Given the description of an element on the screen output the (x, y) to click on. 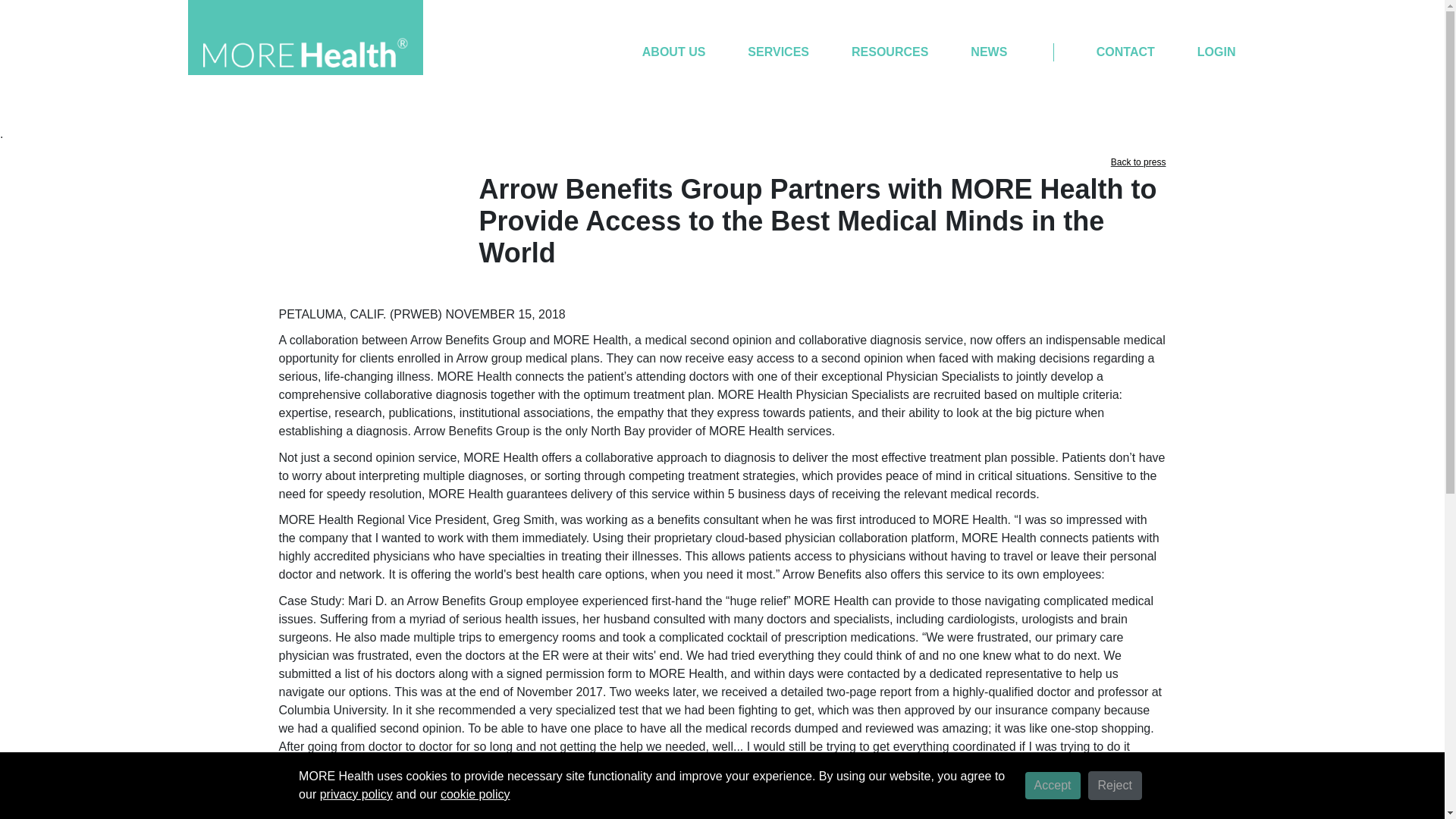
Back to press (1138, 162)
